Given the description of an element on the screen output the (x, y) to click on. 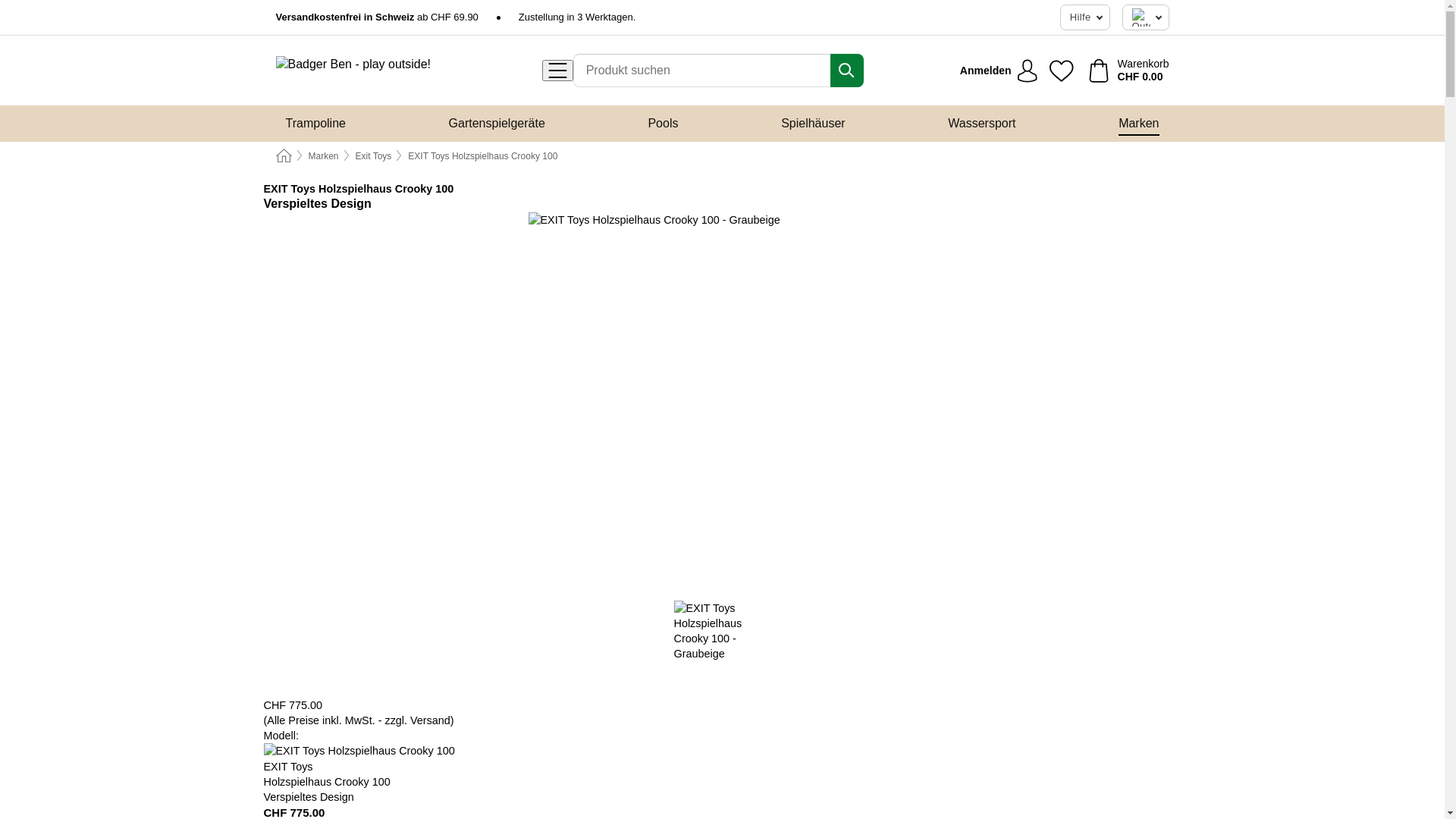
EXIT Toys Holzspielhaus Crooky 100 Element type: text (482, 155)
Marken Element type: text (1138, 123)
Exit Toys Element type: text (373, 155)
Zustellung in 3 Werktagen. Element type: text (576, 17)
Marken Element type: text (322, 155)
Trampoline Element type: text (315, 123)
Home Element type: text (283, 155)
Anmelden Element type: text (998, 70)
Hilfe Element type: text (1085, 17)
zzgl. Versand Element type: text (416, 720)
Pools Element type: text (662, 123)
EXIT Toys Element type: text (289, 188)
Warenkorb
CHF 0.00 Element type: text (1128, 70)
Versandkostenfrei in Schweiz ab CHF 69.90 Element type: text (377, 17)
Wassersport Element type: text (981, 123)
